Given the description of an element on the screen output the (x, y) to click on. 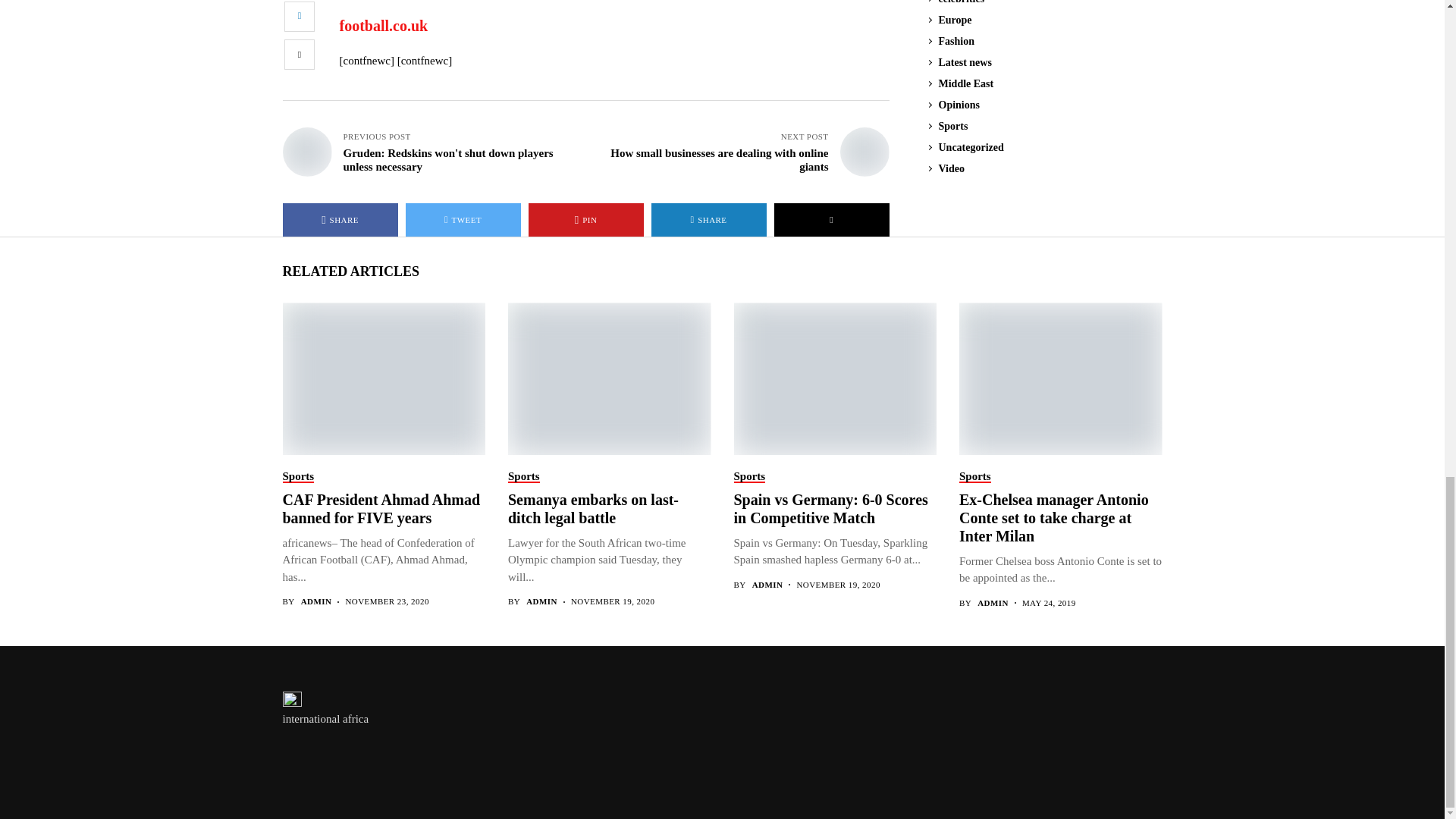
Posts by admin (767, 584)
Posts by admin (992, 603)
Posts by admin (541, 601)
Posts by admin (316, 601)
